Given the description of an element on the screen output the (x, y) to click on. 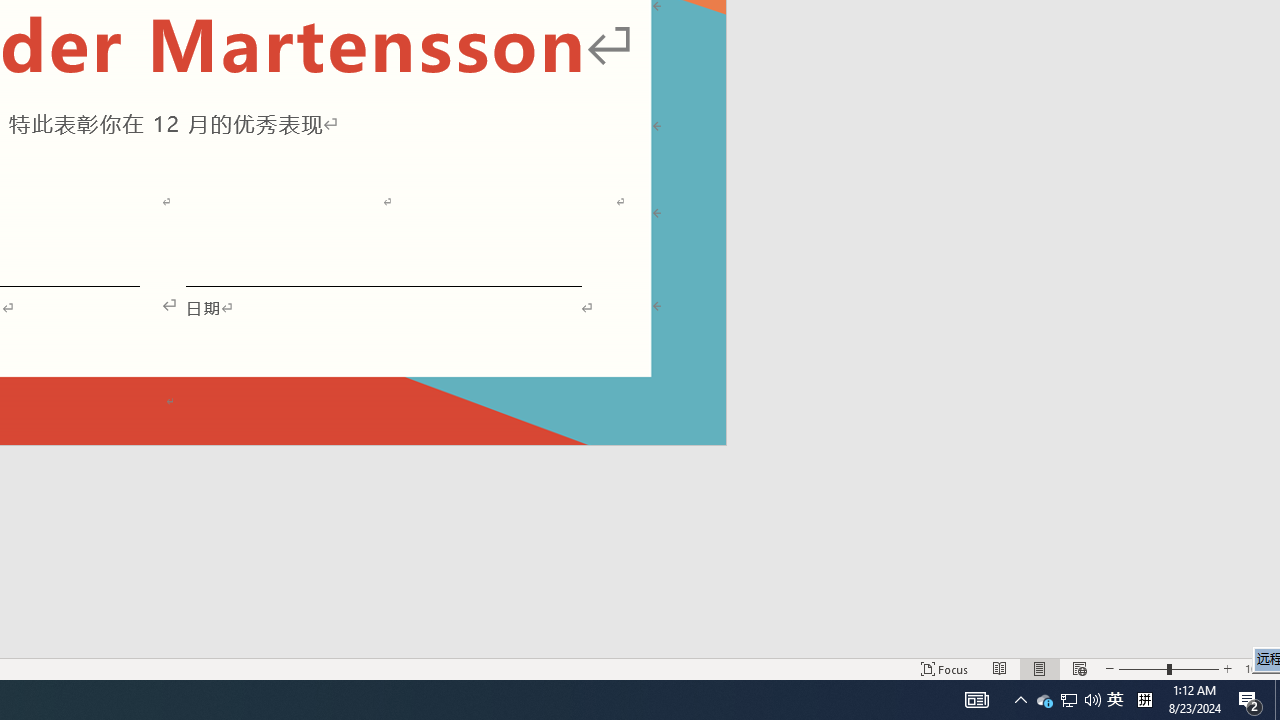
User Promoted Notification Area (1068, 699)
Zoom (1168, 668)
Action Center, 2 new notifications (1250, 699)
Show desktop (1069, 699)
Notification Chevron (1277, 699)
Q2790: 100% (1115, 699)
